Given the description of an element on the screen output the (x, y) to click on. 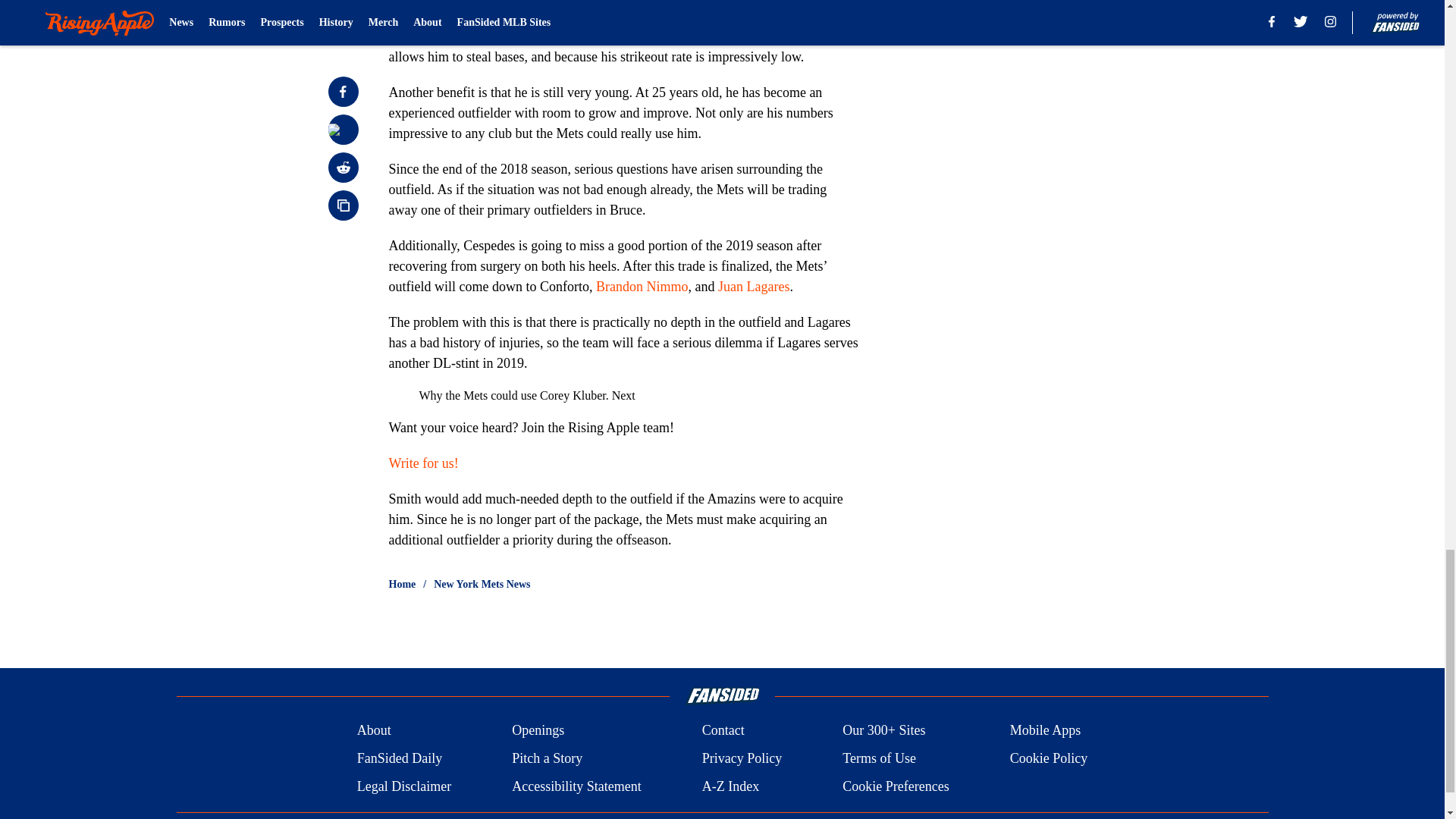
Home (401, 584)
Write for us! (423, 462)
New York Mets News (481, 584)
Brandon Nimmo (641, 286)
Juan Lagares (753, 286)
About (373, 730)
